Given the description of an element on the screen output the (x, y) to click on. 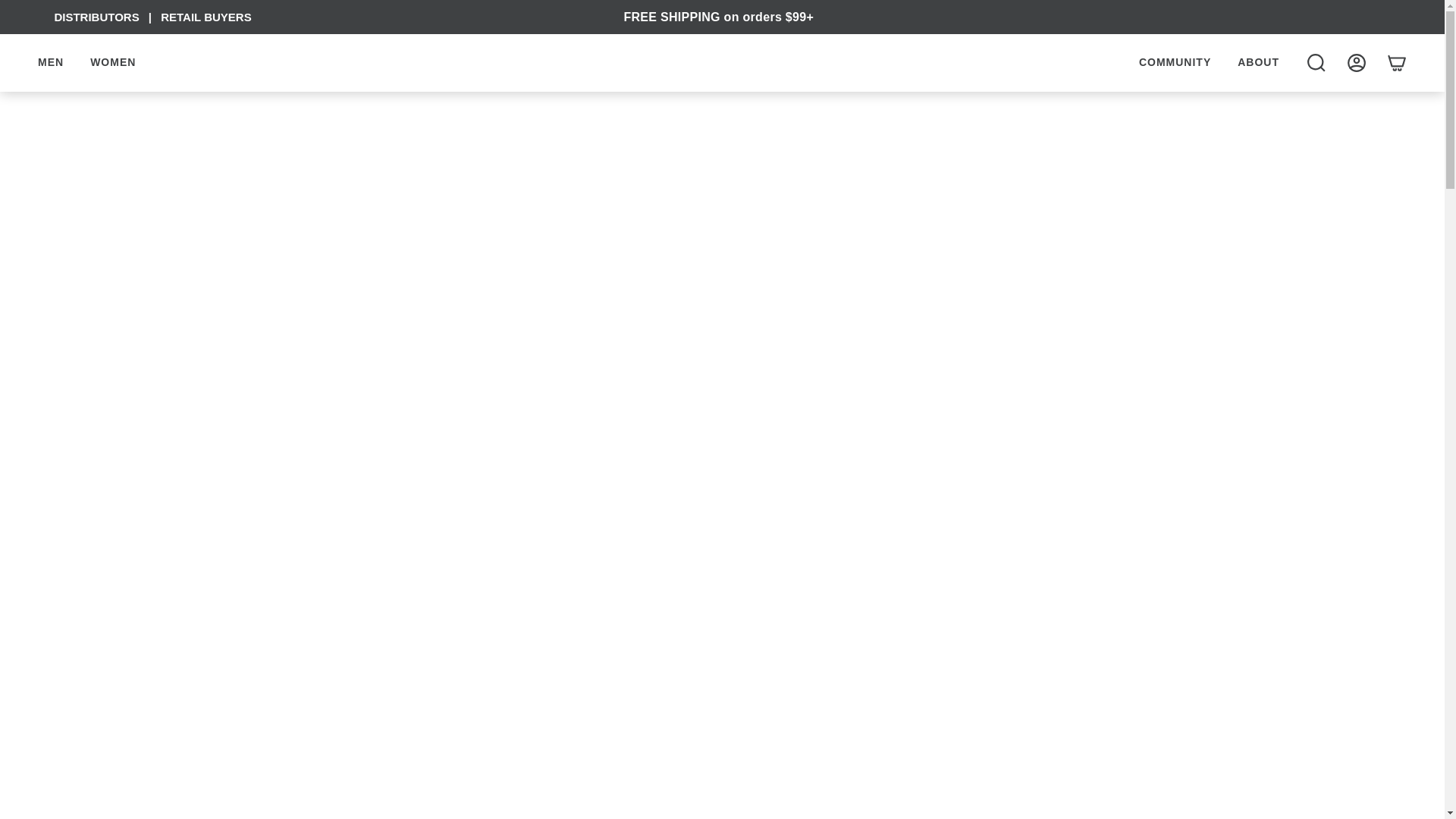
RETAIL BUYERS (205, 16)
WOMEN (112, 62)
DISTRIBUTORS (95, 16)
